Given the description of an element on the screen output the (x, y) to click on. 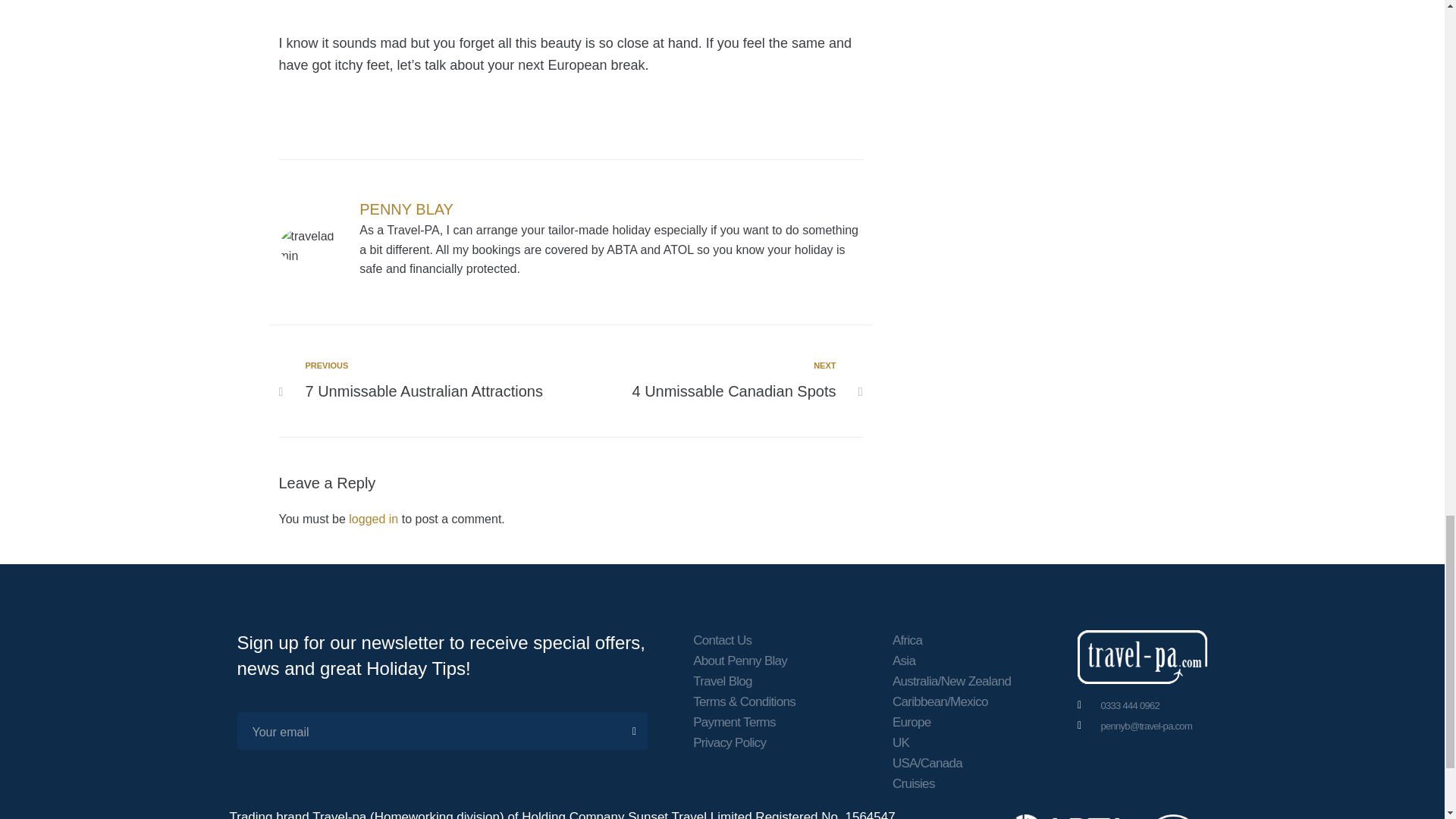
About Penny Blay (743, 660)
Contact Us (743, 639)
PENNY BLAY (431, 381)
logged in (405, 208)
